Given the description of an element on the screen output the (x, y) to click on. 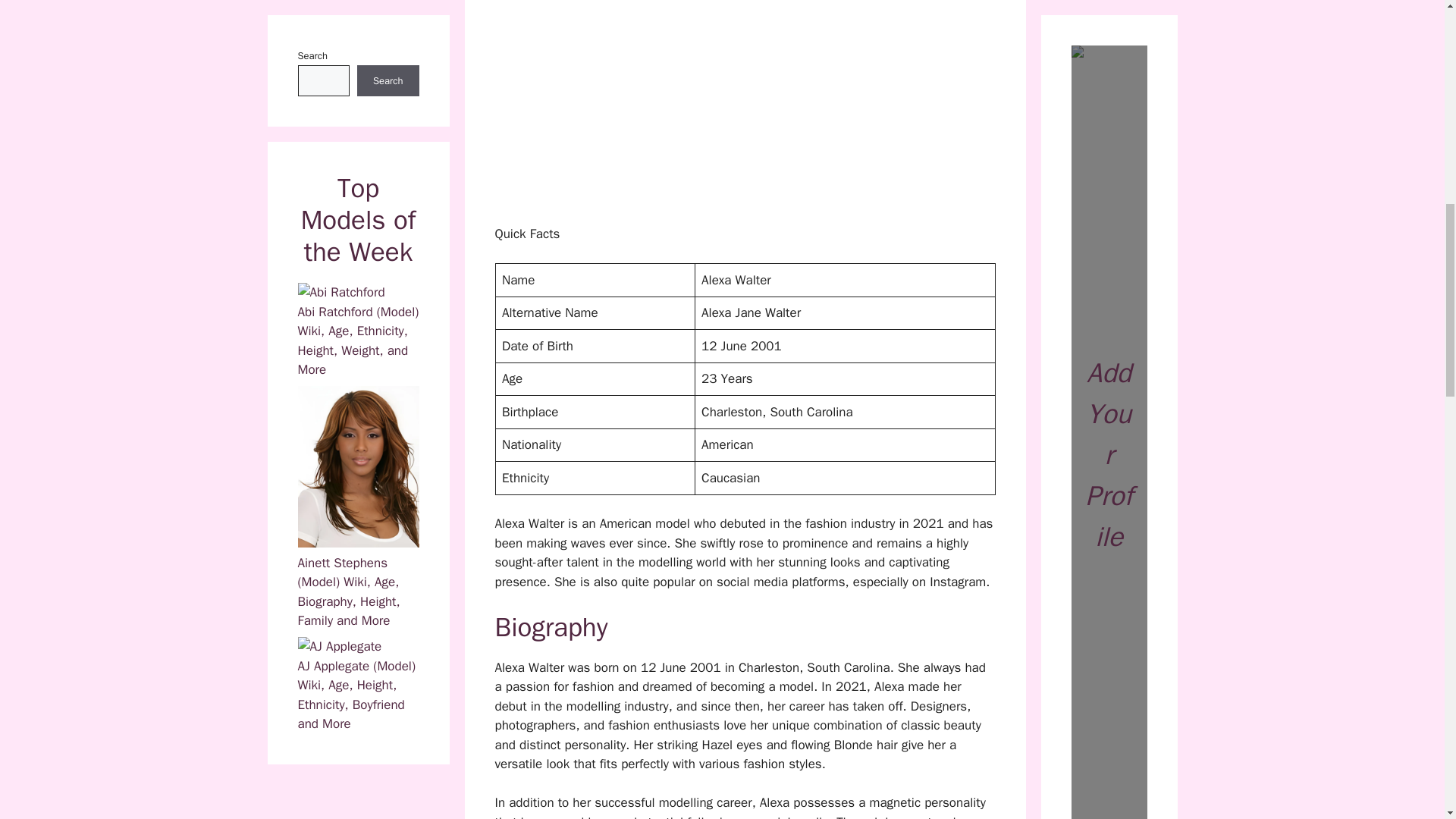
Add Your Profile (1109, 11)
